Given the description of an element on the screen output the (x, y) to click on. 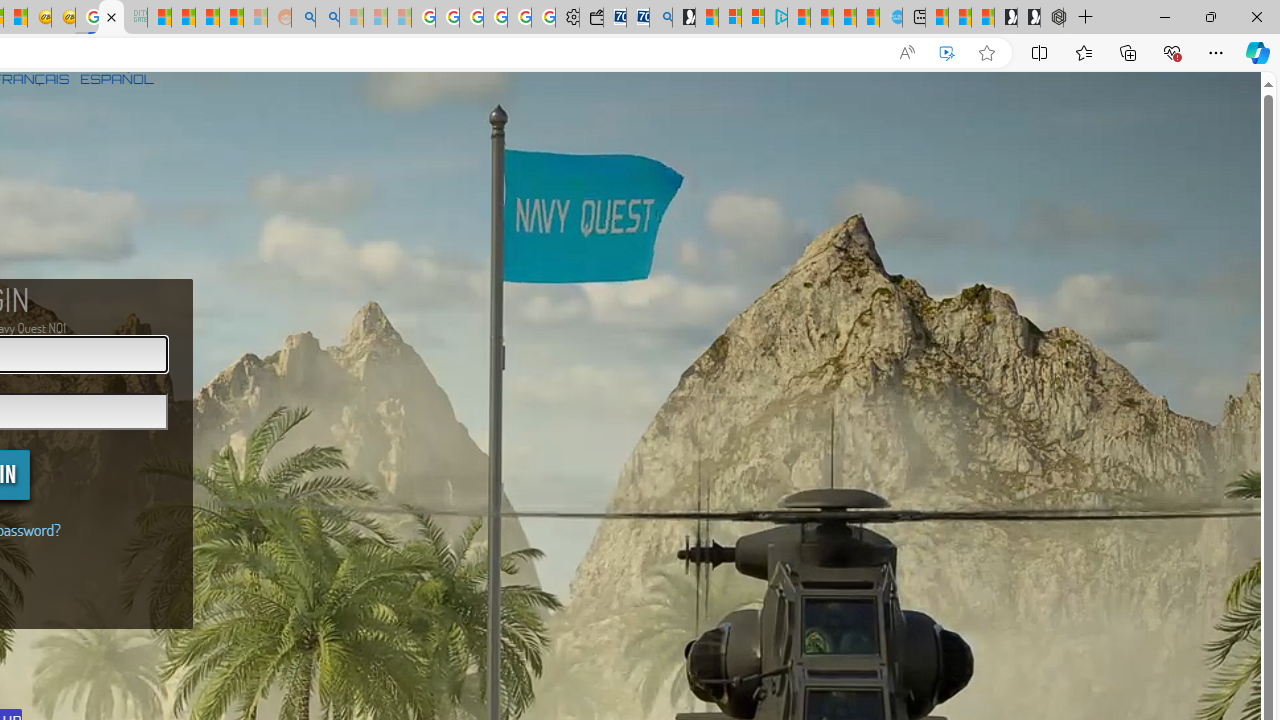
Student Loan Update: Forgiveness Program Ends This Month (231, 17)
